Given the description of an element on the screen output the (x, y) to click on. 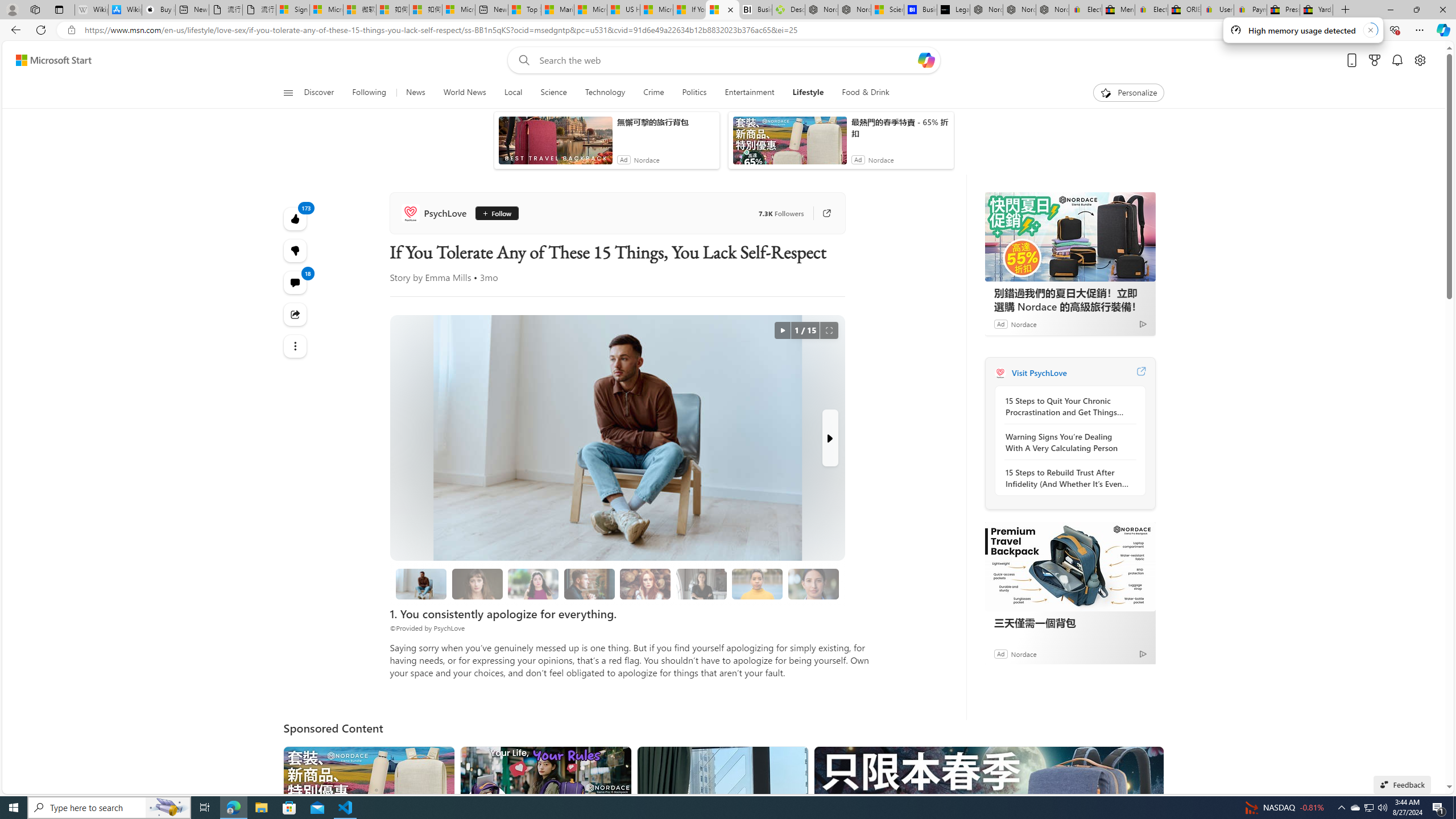
High memory usage detected (1302, 30)
anim-content (789, 144)
Press Room - eBay Inc. (1283, 9)
Food & Drink (860, 92)
Payments Terms of Use | eBay.com (1249, 9)
